Given the description of an element on the screen output the (x, y) to click on. 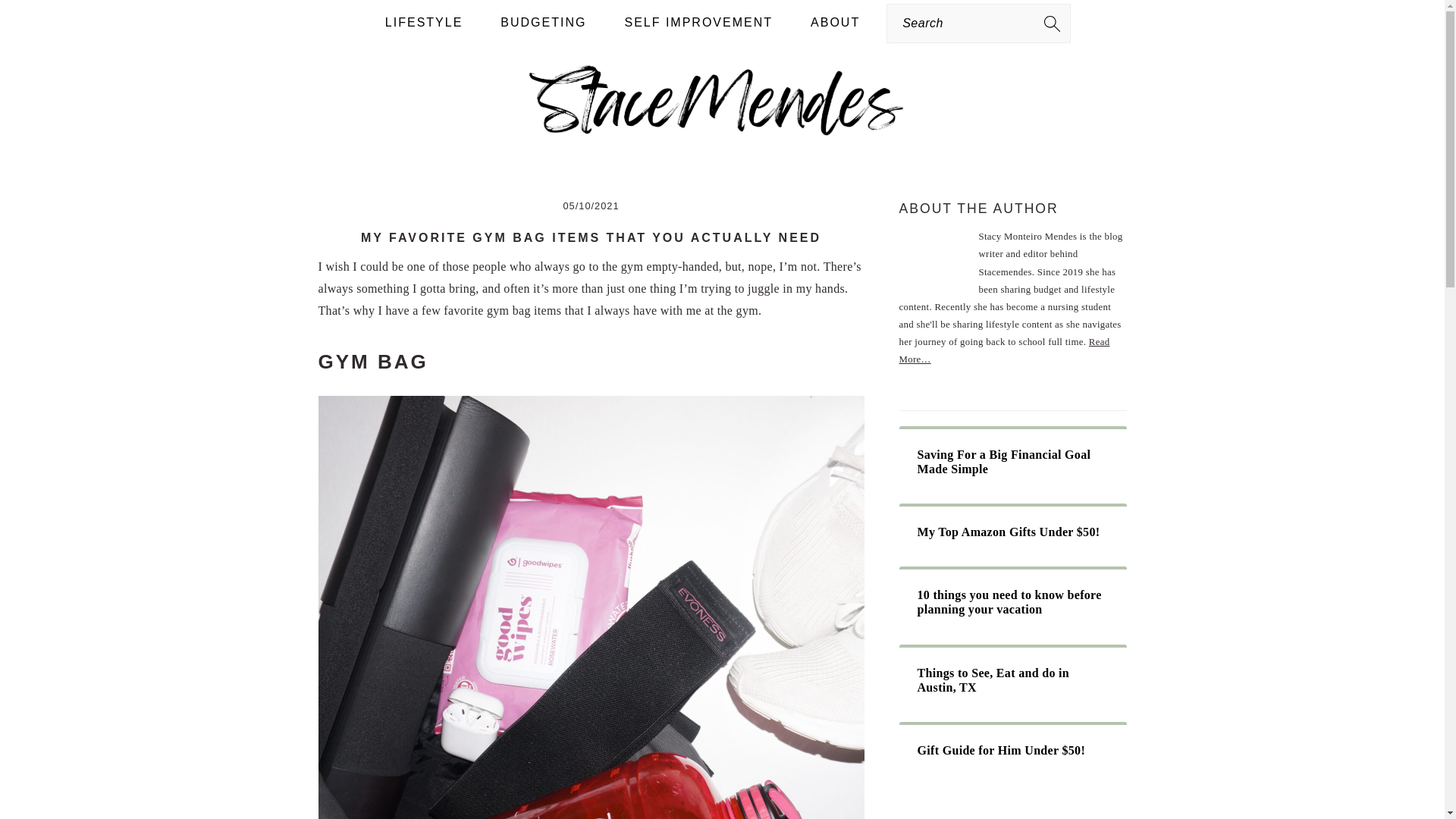
10 things you need to know before planning your vacation (1012, 602)
Saving For a Big Financial Goal Made Simple (1012, 461)
SELF IMPROVEMENT (698, 22)
BUDGETING (543, 22)
StaceMendes (721, 128)
Things to See, Eat and do in Austin, TX (1012, 679)
LIFESTYLE (423, 22)
ABOUT (835, 22)
StaceMendes (721, 99)
Search (275, 19)
